Given the description of an element on the screen output the (x, y) to click on. 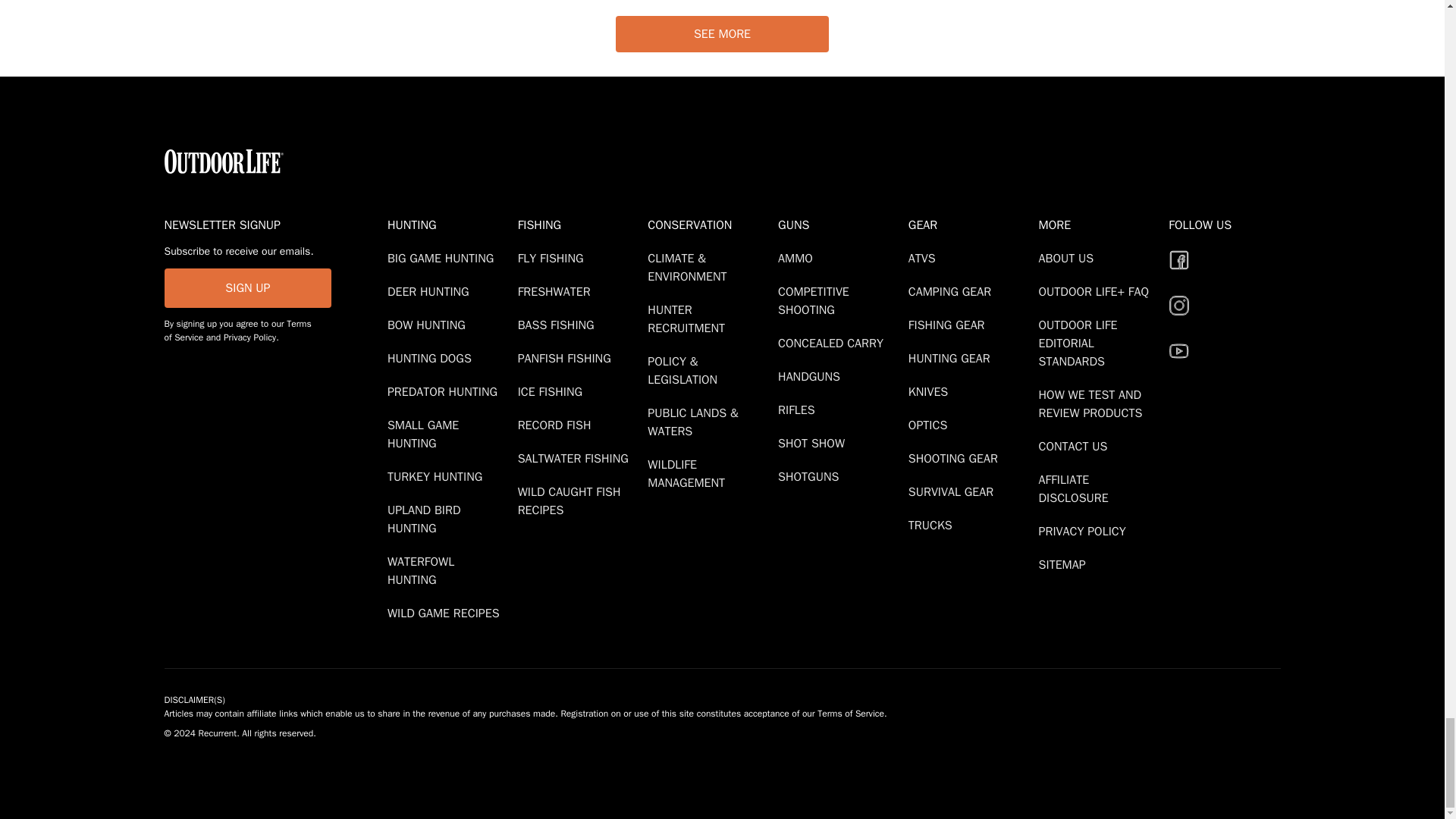
Hunting (449, 225)
Fishing (580, 225)
Big Game Hunting (443, 258)
Deer Hunting (431, 291)
